Given the description of an element on the screen output the (x, y) to click on. 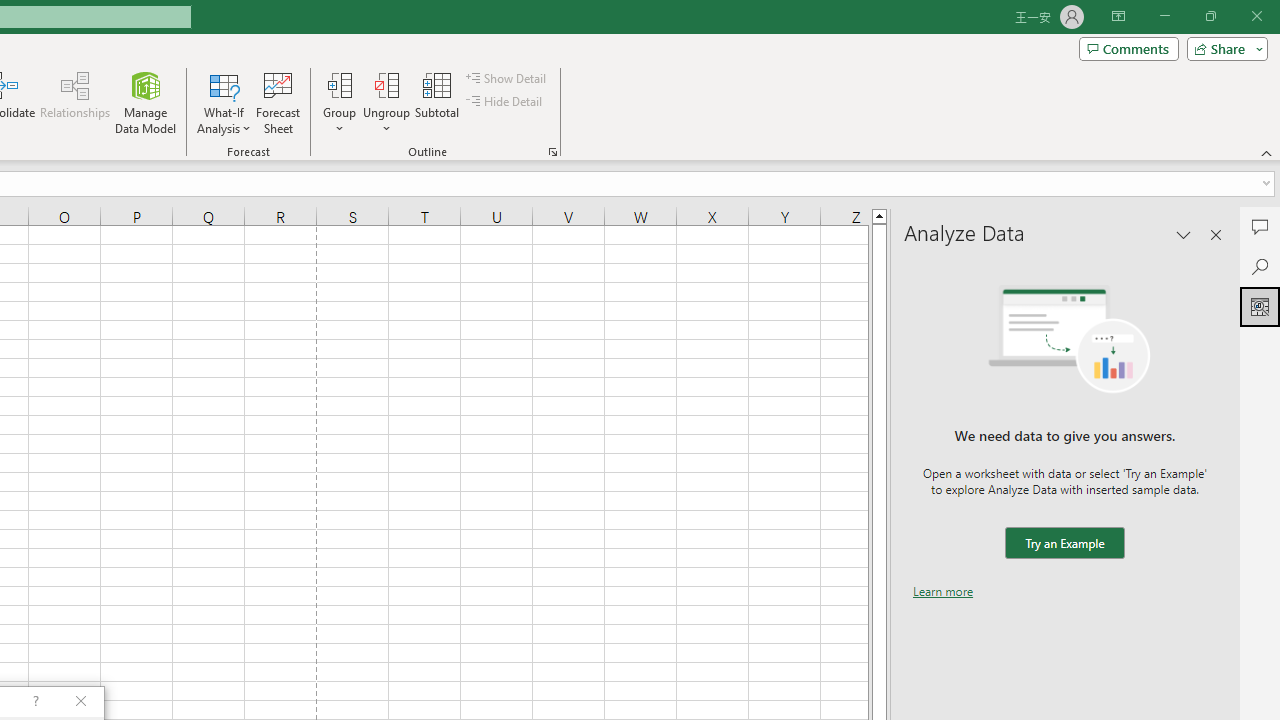
Relationships (75, 102)
Hide Detail (505, 101)
More Options (386, 121)
Manage Data Model (145, 102)
Forecast Sheet (278, 102)
Share (1223, 48)
Close pane (1215, 234)
Learn more (943, 591)
What-If Analysis (223, 102)
Restore Down (1210, 16)
Line up (879, 215)
Group... (339, 102)
Group and Outline Settings (552, 151)
Ungroup... (386, 102)
